Given the description of an element on the screen output the (x, y) to click on. 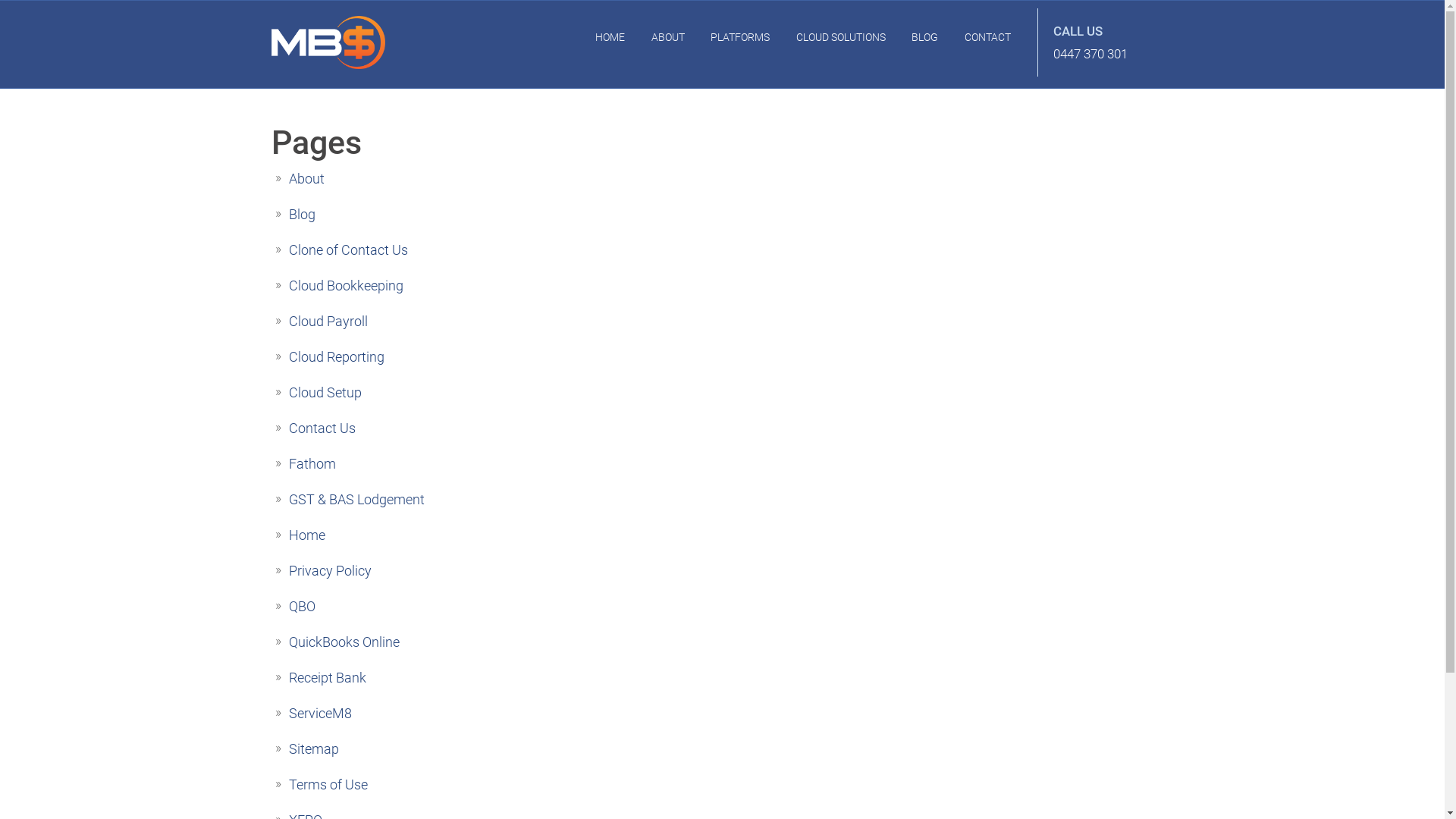
ServiceM8 Element type: text (319, 713)
Home Element type: text (306, 534)
BLOG Element type: text (924, 37)
Cloud Bookkeeping Element type: text (345, 285)
Terms of Use Element type: text (327, 784)
GST & BAS Lodgement Element type: text (355, 499)
Fathom Element type: text (311, 463)
Clone of Contact Us Element type: text (347, 249)
CONTACT Element type: text (987, 37)
Cloud Setup Element type: text (324, 392)
Privacy Policy Element type: text (329, 570)
About Element type: text (305, 178)
Receipt Bank Element type: text (326, 677)
QBO Element type: text (301, 606)
CLOUD SOLUTIONS Element type: text (840, 37)
Blog Element type: text (301, 214)
Contact Us Element type: text (321, 428)
ABOUT Element type: text (667, 37)
Cloud Payroll Element type: text (327, 321)
Cloud Reporting Element type: text (335, 356)
HOME Element type: text (609, 37)
Sitemap Element type: text (313, 748)
CALL US
0447 370 301 Element type: text (1097, 42)
PLATFORMS Element type: text (739, 37)
QuickBooks Online Element type: text (343, 641)
